Given the description of an element on the screen output the (x, y) to click on. 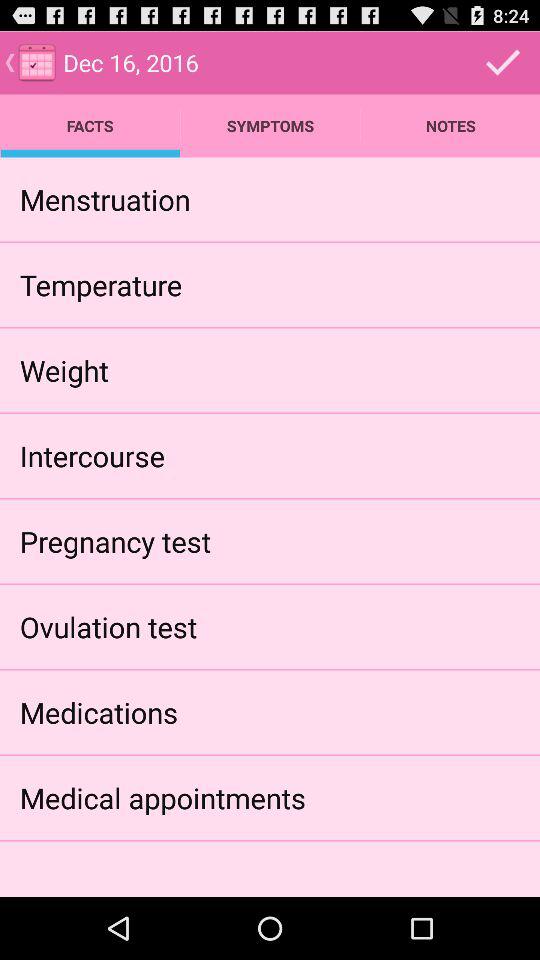
select notes (450, 126)
select symptoms  which is at top of the page (270, 126)
select tick mark on the top right corner of the screen (503, 63)
